Given the description of an element on the screen output the (x, y) to click on. 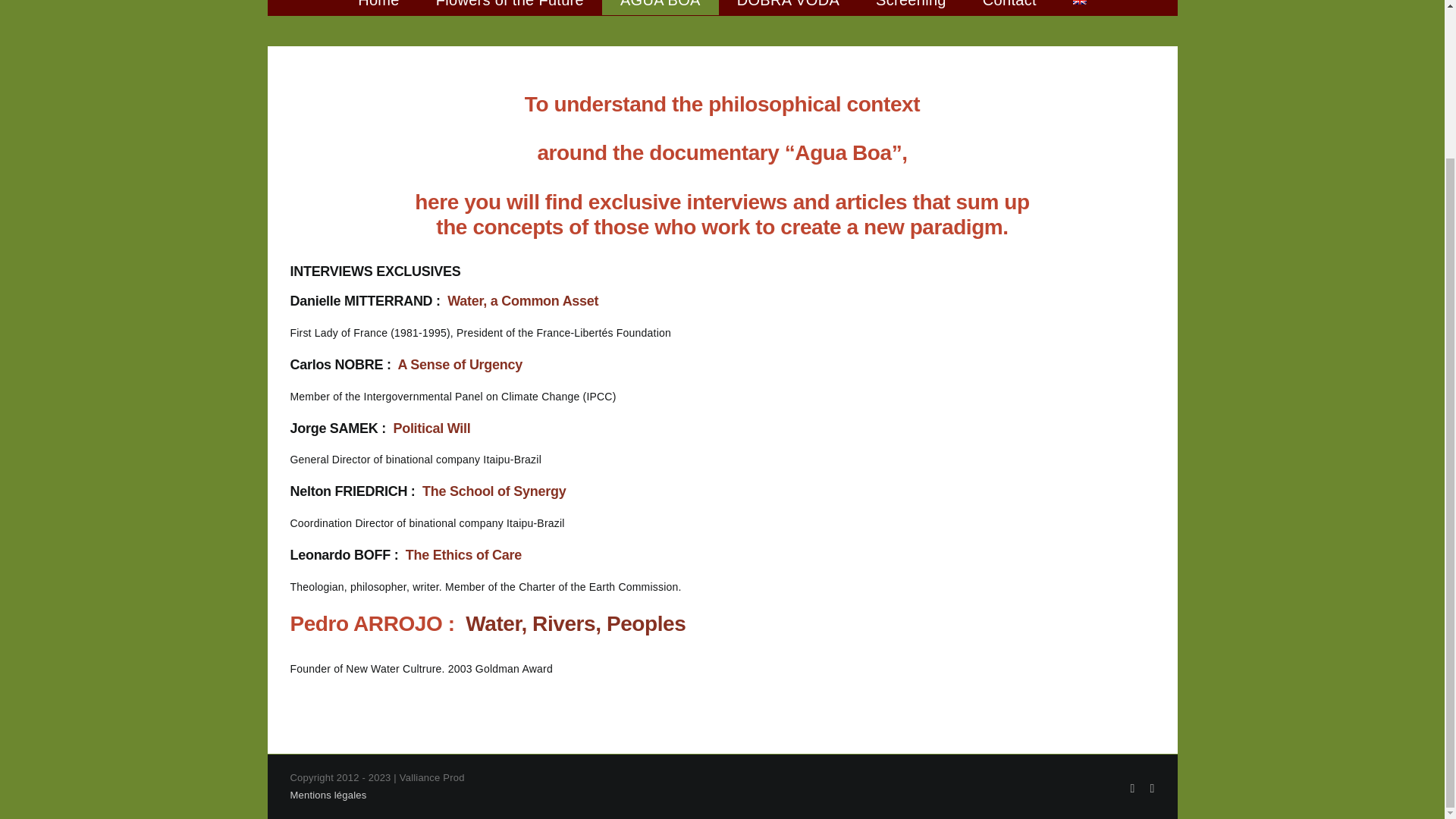
ITV eng Nelton Friedrich (494, 491)
Flowers of the Future (509, 7)
Home (378, 7)
Contact (1008, 7)
ITV eng Danielle Mitterrand (522, 300)
ITV eng Leonardo Boff (463, 554)
DOBRA VODA (788, 7)
ITV eng Carlos Nobre (459, 364)
Screening (910, 7)
AGUA BOA (660, 7)
ITV eng Pedro Arrojo (575, 623)
ITV eng Jorge Samek (431, 427)
